Given the description of an element on the screen output the (x, y) to click on. 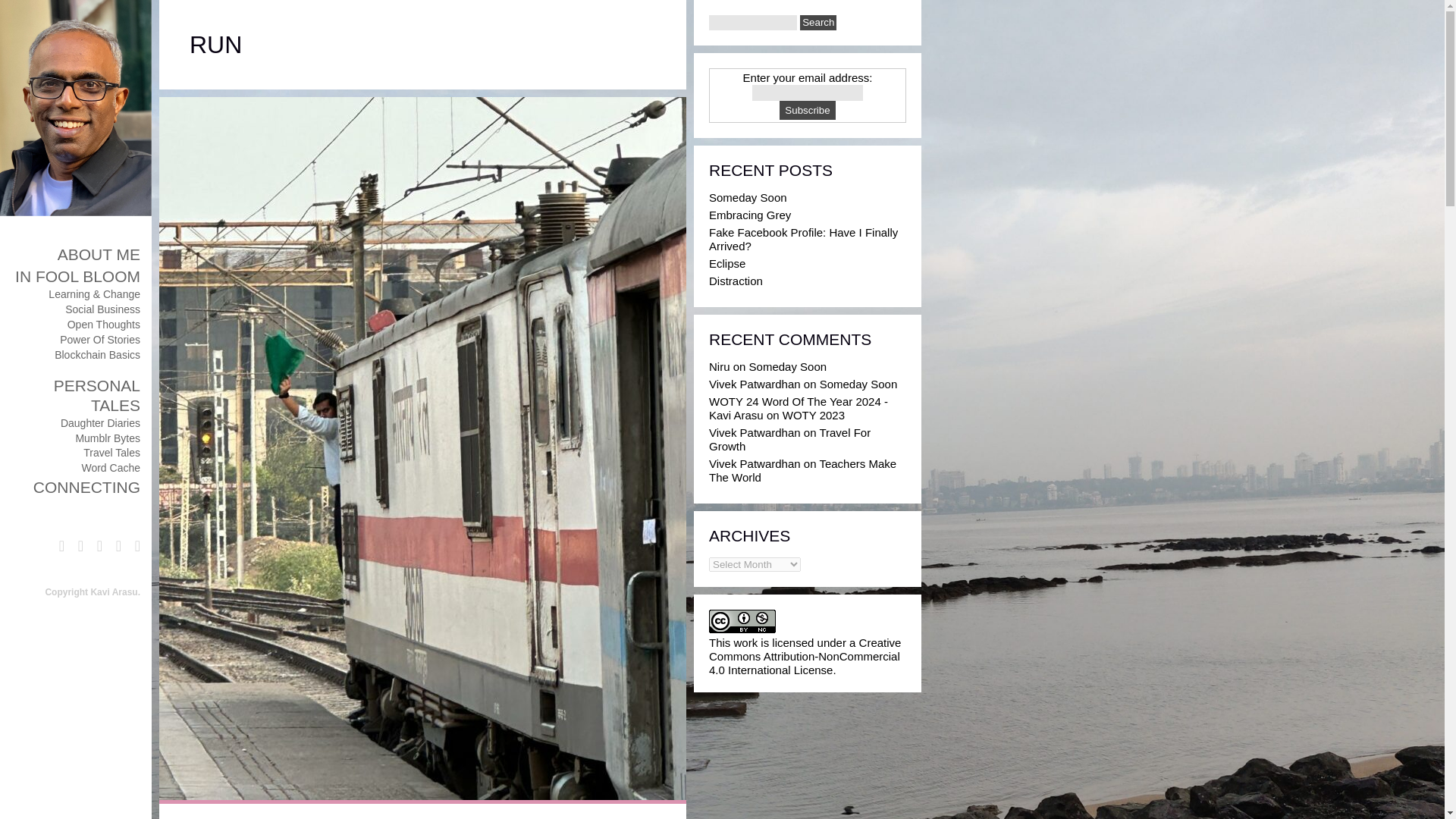
Daughter Diaries (100, 422)
IN FOOL BLOOM (76, 276)
Open Thoughts (102, 324)
Power Of Stories (99, 339)
CONNECTING (86, 487)
Subscribe (806, 109)
Search (817, 22)
PERSONAL TALES (96, 394)
ABOUT ME (98, 253)
Social Business (102, 309)
Blockchain Basics (97, 354)
Word Cache (110, 467)
Mumblr Bytes (107, 438)
Travel Tales (110, 452)
